Given the description of an element on the screen output the (x, y) to click on. 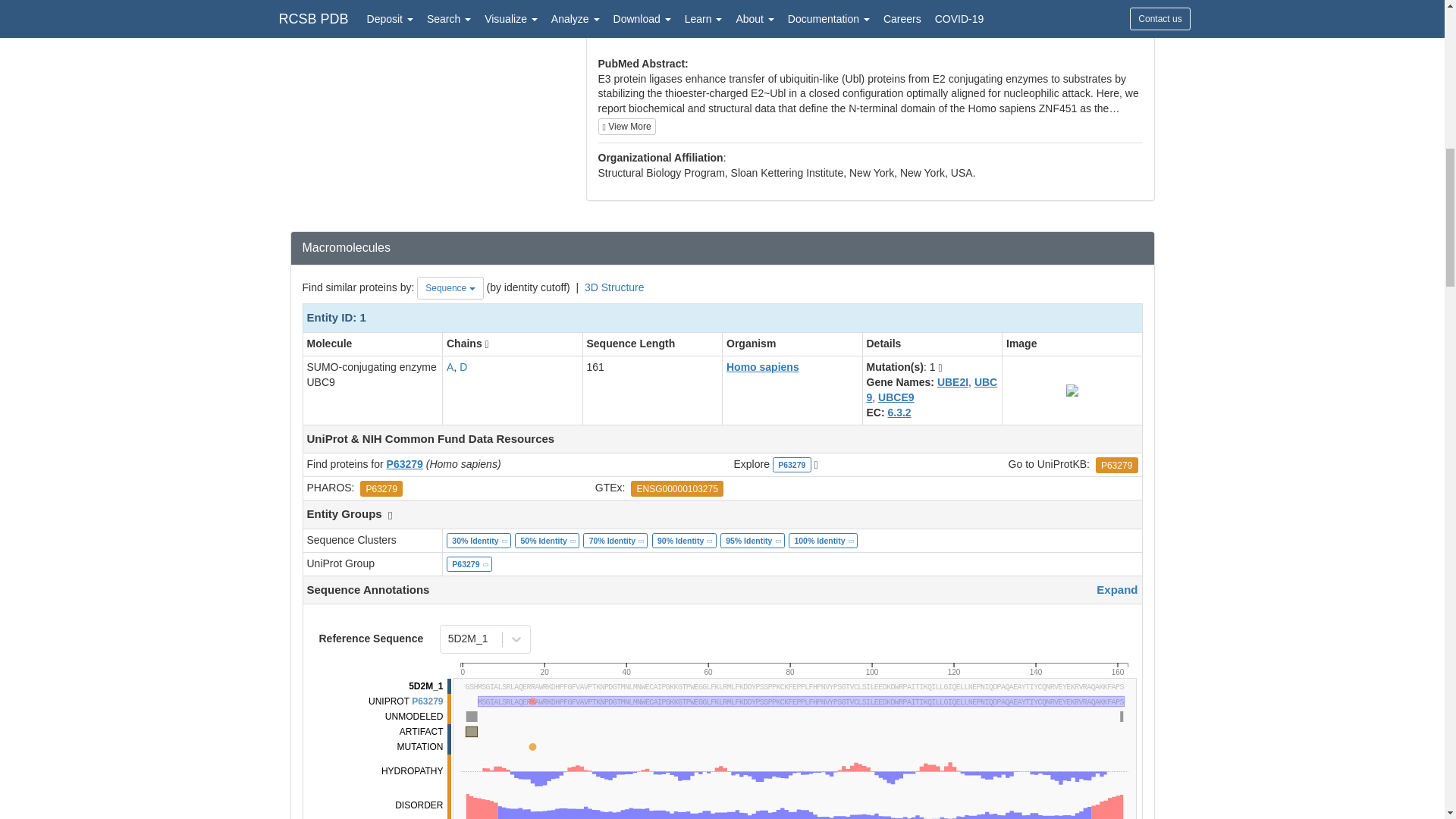
Diseases, drugs and related data (792, 666)
